Given the description of an element on the screen output the (x, y) to click on. 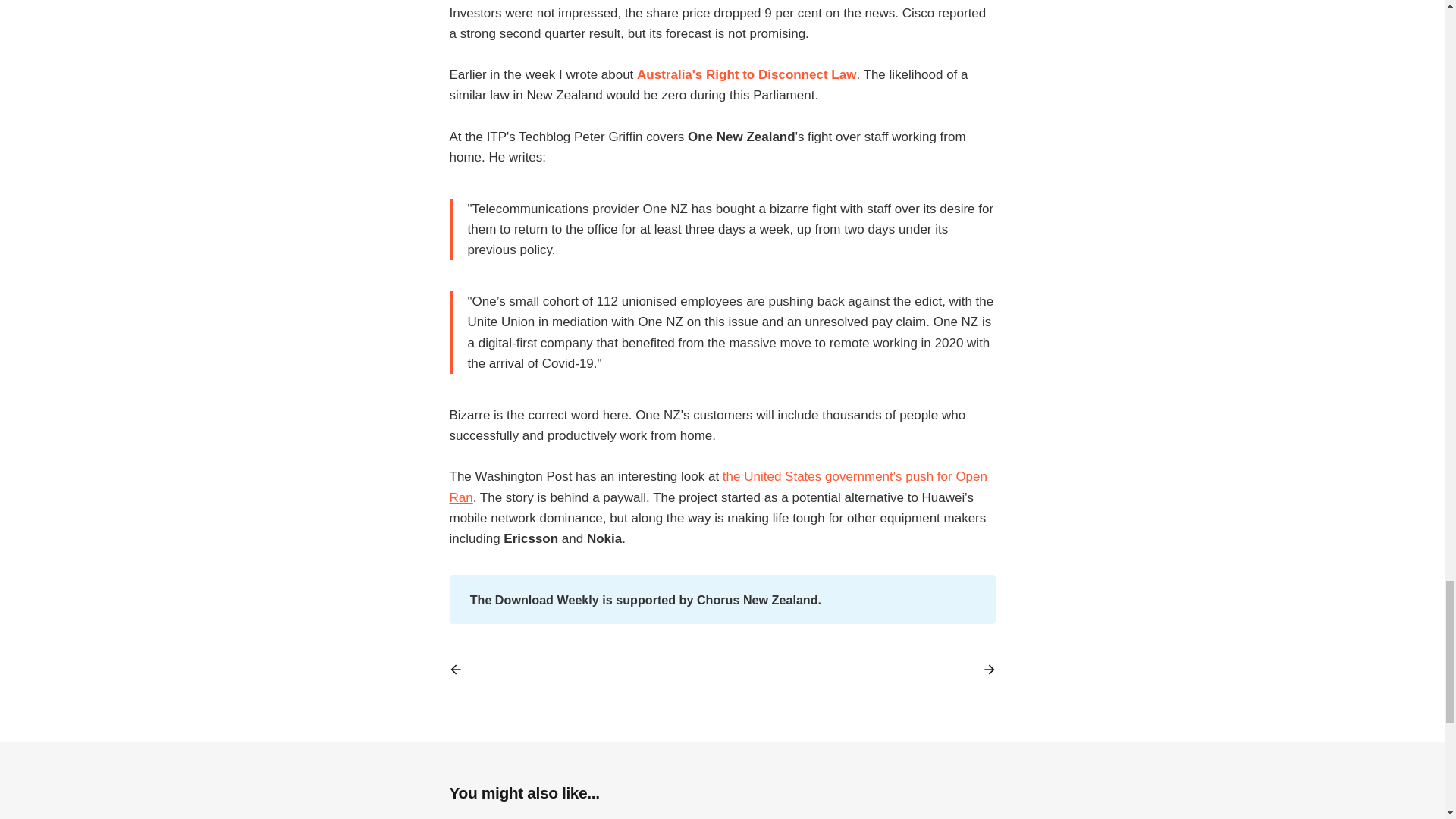
Australia's Right to Disconnect Law (746, 74)
the United States government's push for Open Ran (717, 486)
